Given the description of an element on the screen output the (x, y) to click on. 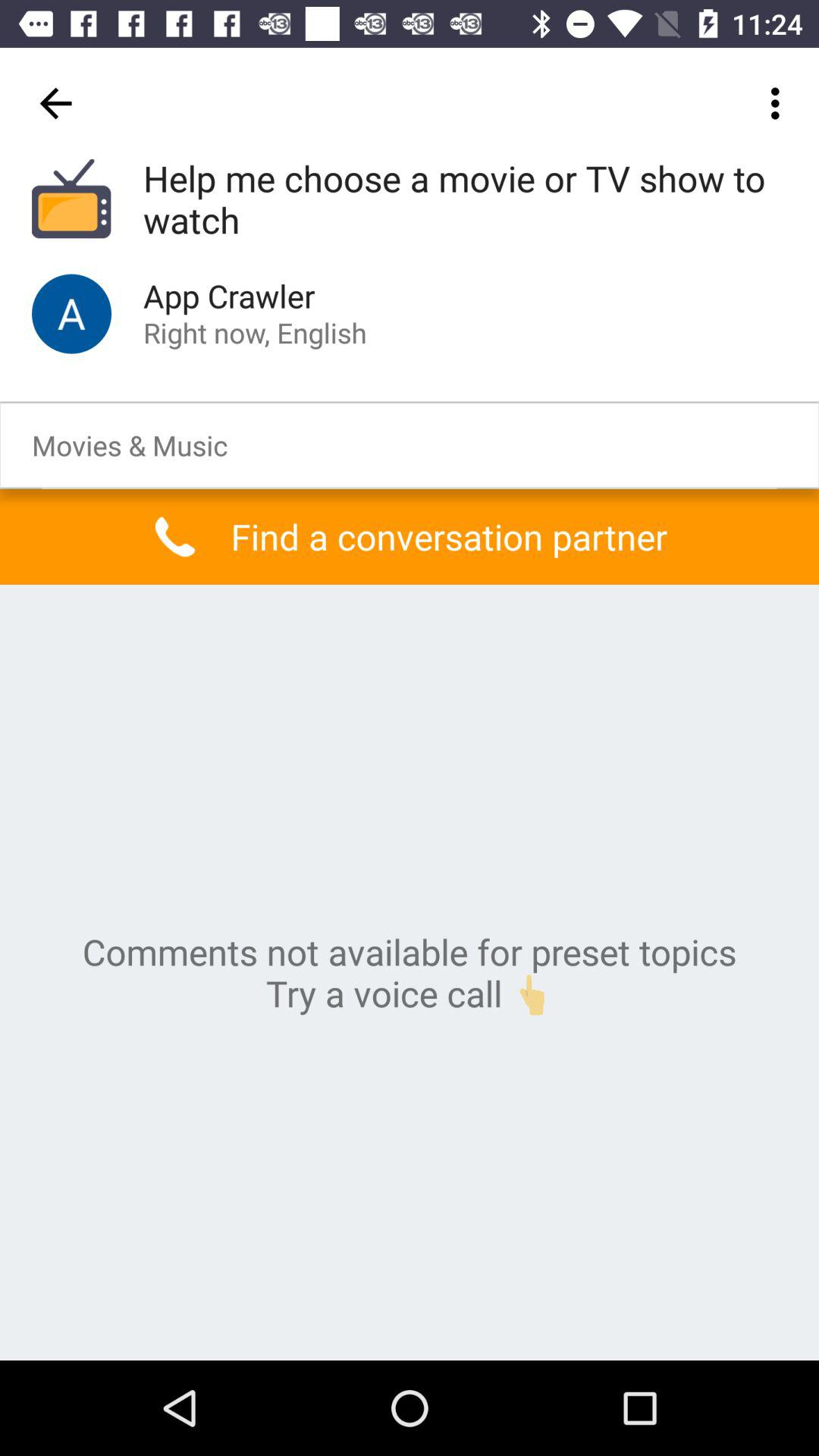
select icon above the movies & music (71, 313)
